Given the description of an element on the screen output the (x, y) to click on. 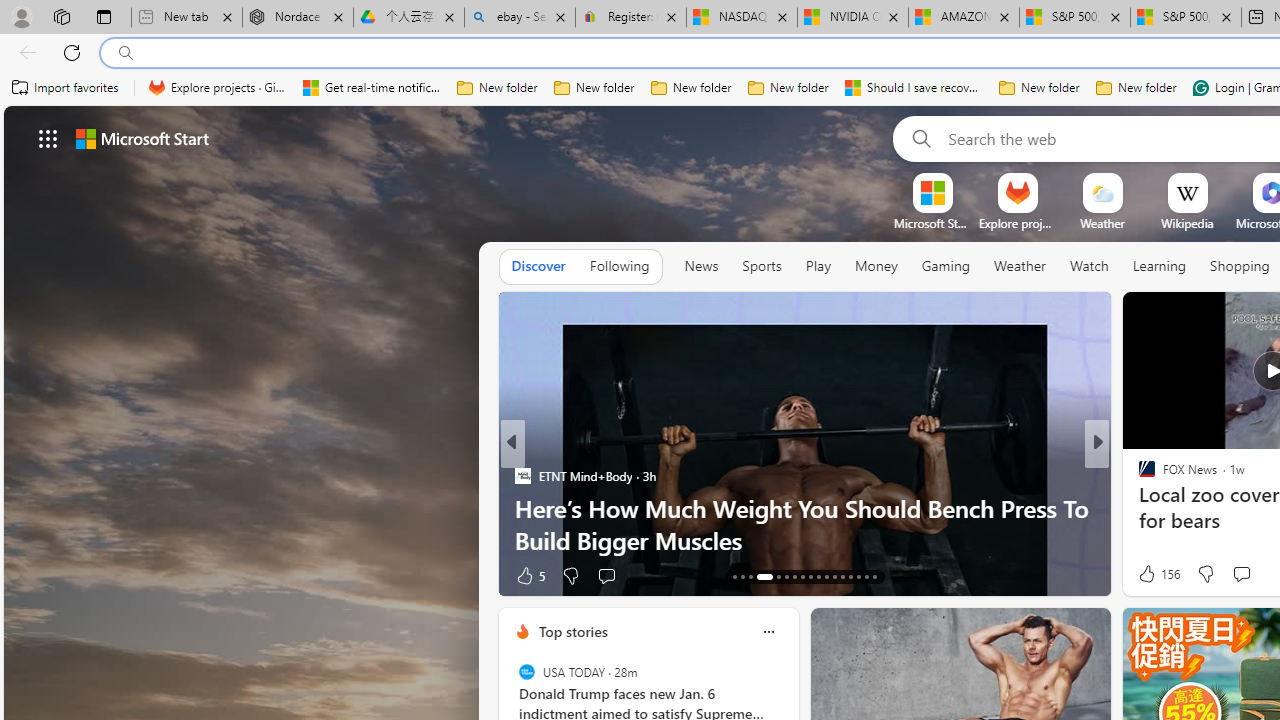
26 Like (1149, 574)
Pocket-lint (1138, 507)
View comments 1 Comment (1234, 574)
63 Like (1149, 574)
AutomationID: tab-24 (833, 576)
AutomationID: tab-25 (842, 576)
Learning (1159, 267)
